Given the description of an element on the screen output the (x, y) to click on. 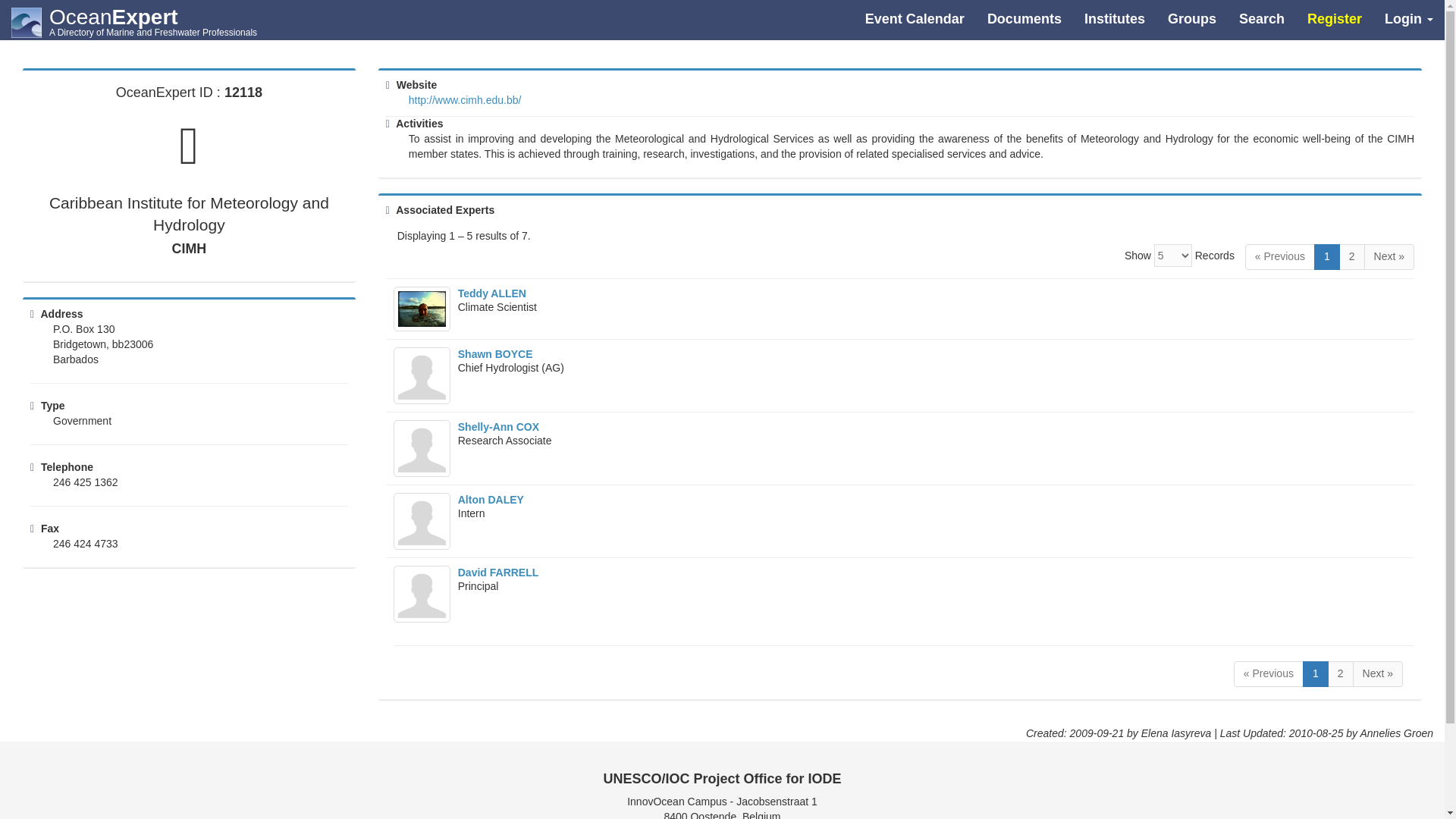
Alton DALEY (491, 499)
Shawn BOYCE (495, 354)
Register (1334, 18)
Documents (1024, 18)
2 (1352, 257)
Register (1334, 18)
Institutes (1114, 18)
Search (1261, 18)
Groups (1191, 18)
David FARRELL (498, 572)
Event Calendar (914, 18)
Shelly-Ann COX (498, 426)
1 (1315, 673)
